Given the description of an element on the screen output the (x, y) to click on. 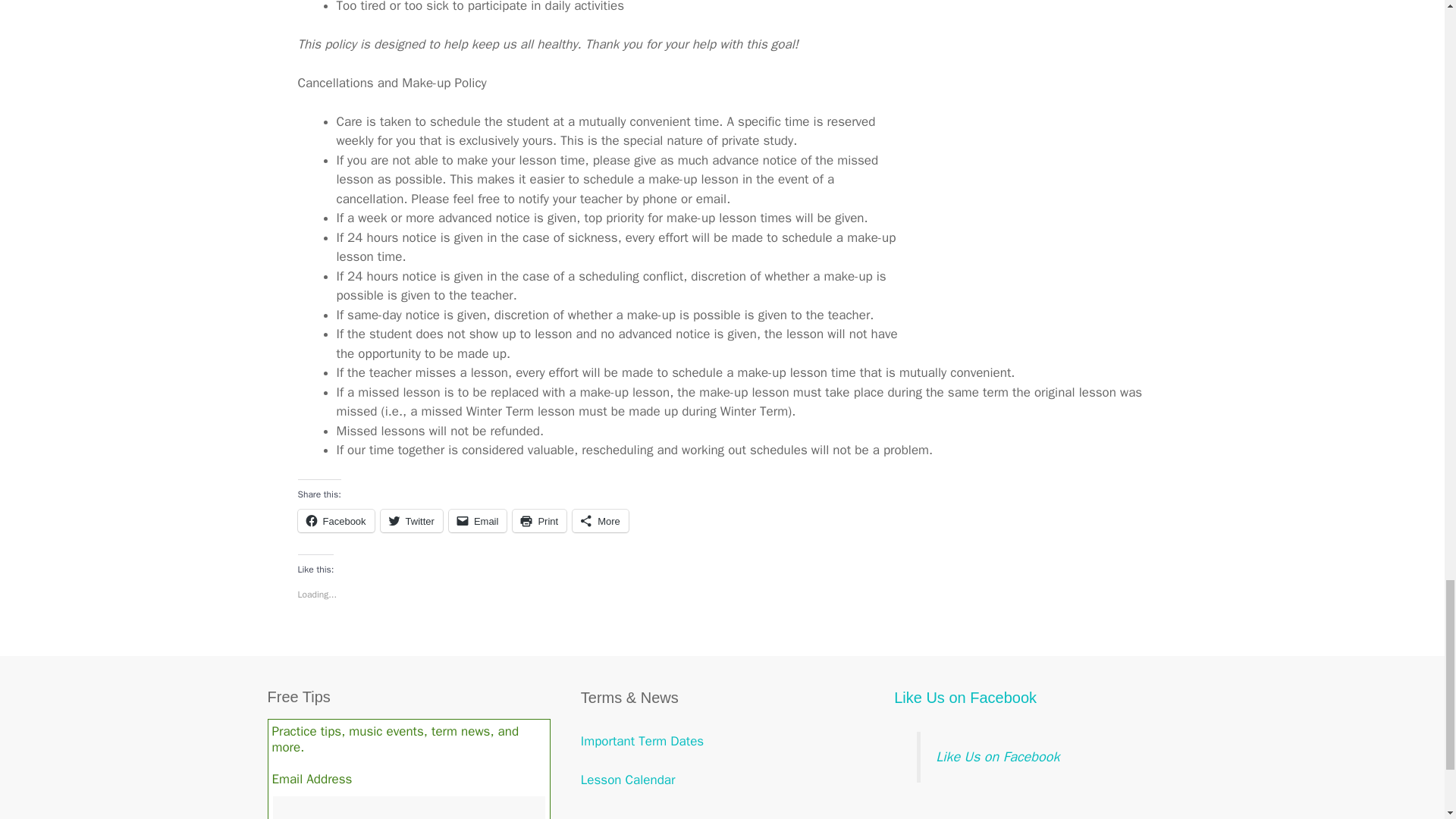
Click to share on Facebook (335, 520)
Click to email a link to a friend (477, 520)
Click to share on Twitter (411, 520)
Click to print (539, 520)
